Given the description of an element on the screen output the (x, y) to click on. 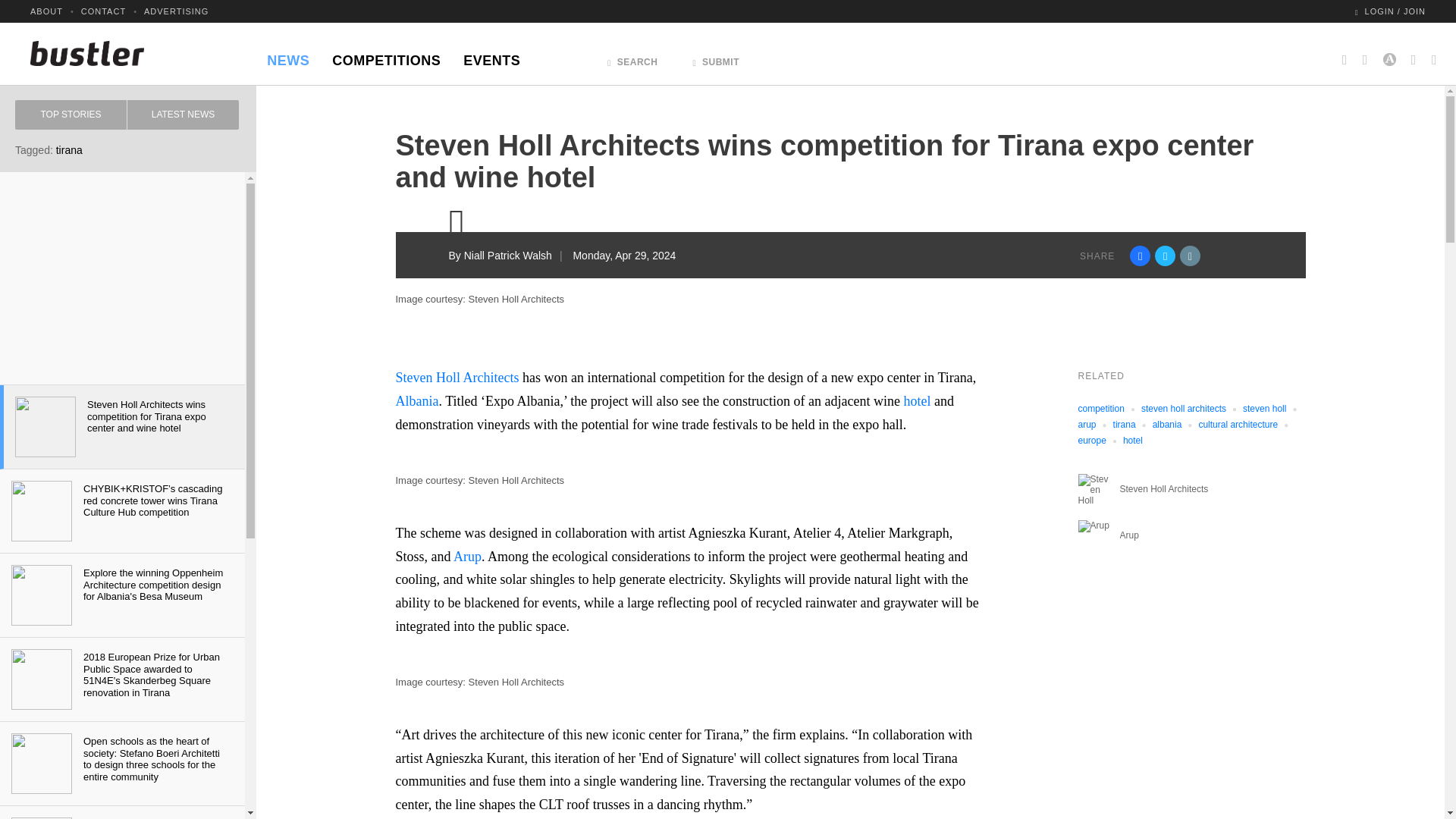
CONTACT (103, 10)
ADVERTISING (176, 10)
Bustler is powered by Archinect (1389, 53)
SEARCH (632, 57)
ABOUT (46, 10)
SUBMIT (715, 57)
COMPETITIONS (385, 56)
EVENTS (491, 56)
NEWS (288, 56)
